Given the description of an element on the screen output the (x, y) to click on. 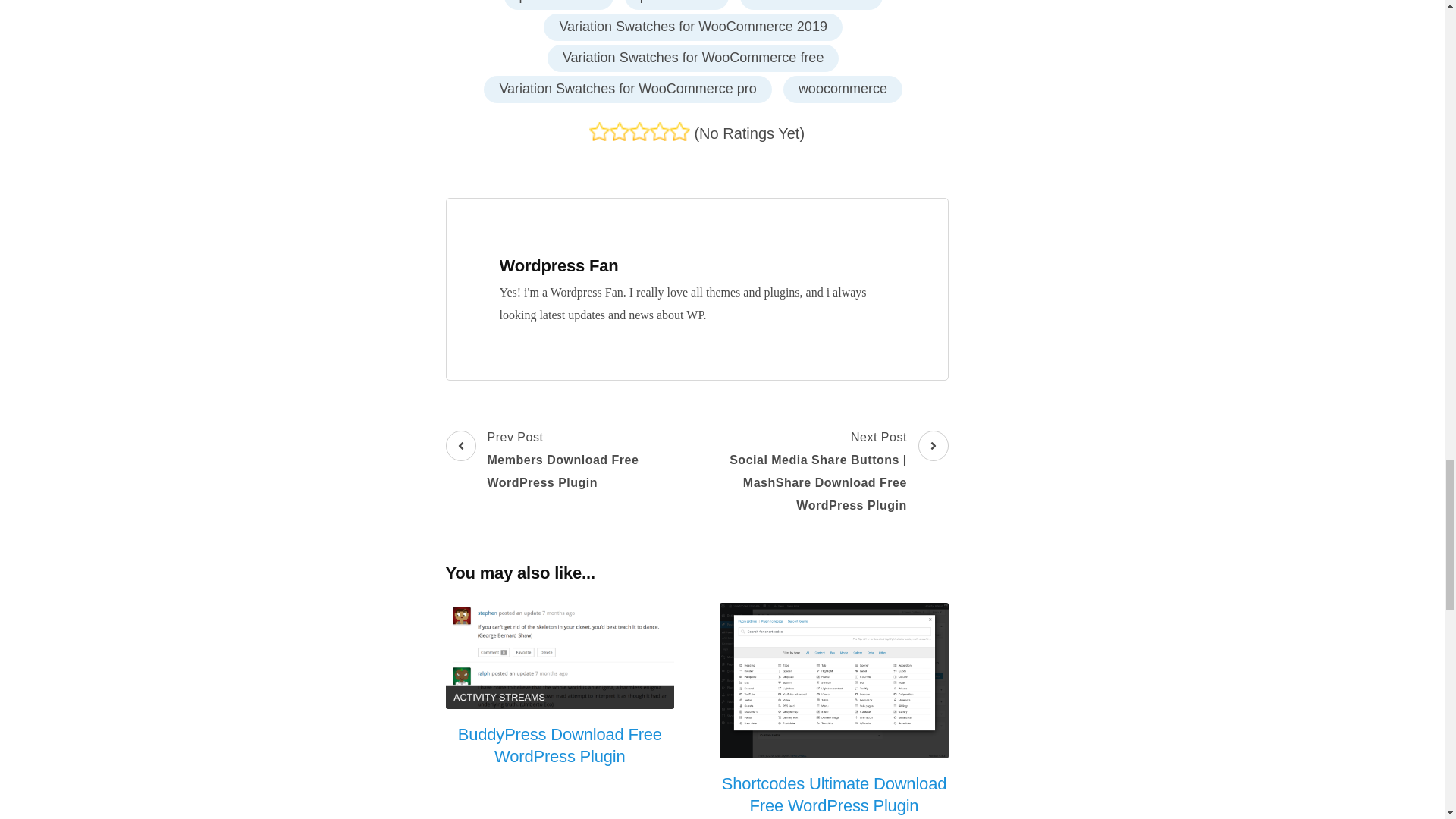
product color (571, 459)
4 Stars (557, 4)
Variation Swatches for WooCommerce free (659, 131)
Variation Swatches for WooCommerce pro (692, 58)
BuddyPress Download Free Wordpress Plugin 2 (627, 89)
Variation Swatches for WooCommerce 2019 (560, 655)
2 Stars (693, 26)
1 Star (620, 131)
product size (599, 131)
3 Stars (676, 4)
Shortcodes Ultimate Download Free Wordpress Plugin 3 (638, 131)
variation swatches (834, 680)
5 Stars (810, 4)
woocommerce (679, 131)
